Given the description of an element on the screen output the (x, y) to click on. 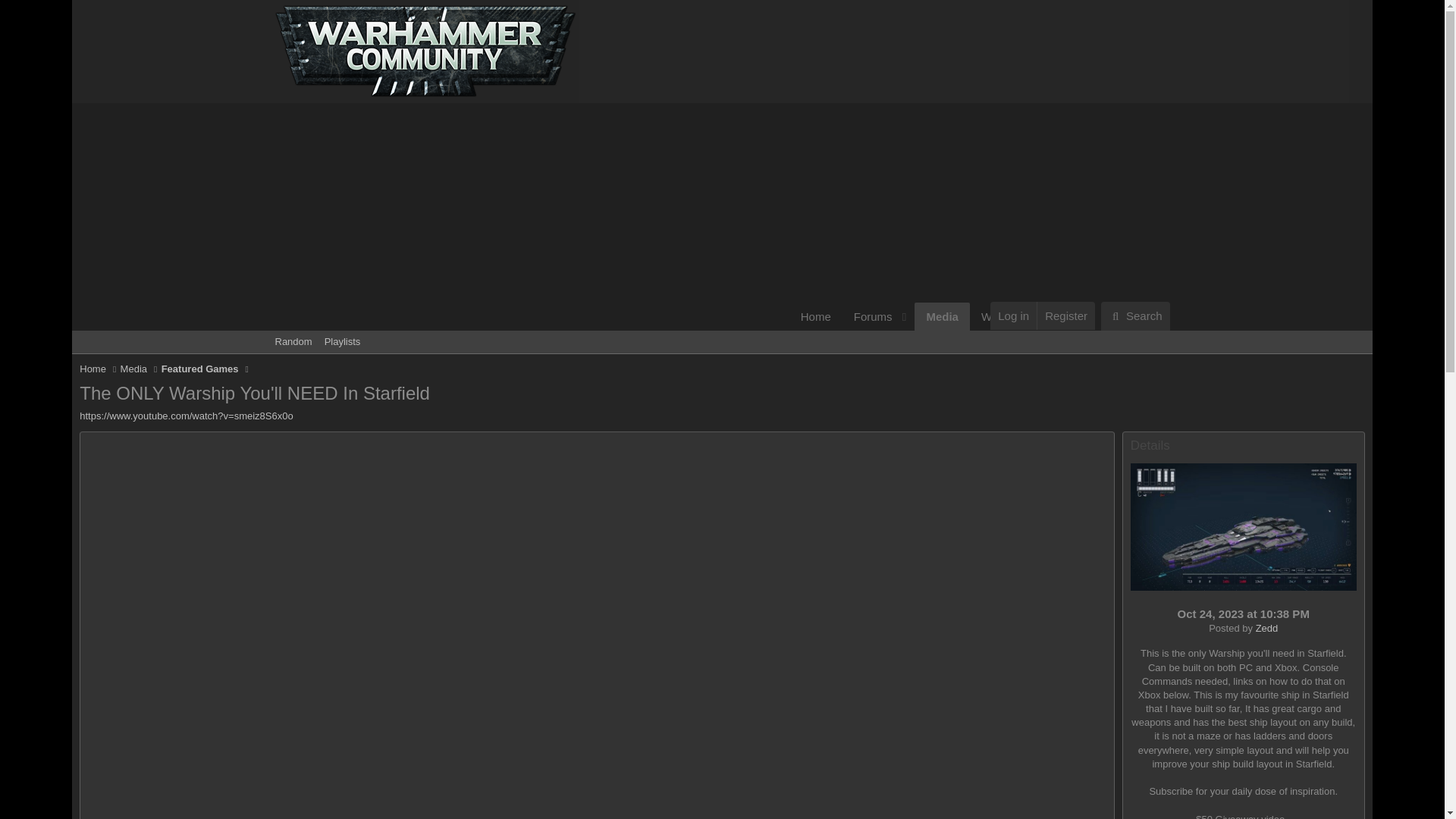
Home (93, 368)
Search (886, 316)
What's new (1135, 316)
Search (1005, 316)
Advertisement (1135, 316)
Register (524, 216)
Log in (1065, 316)
Forums (720, 341)
